Given the description of an element on the screen output the (x, y) to click on. 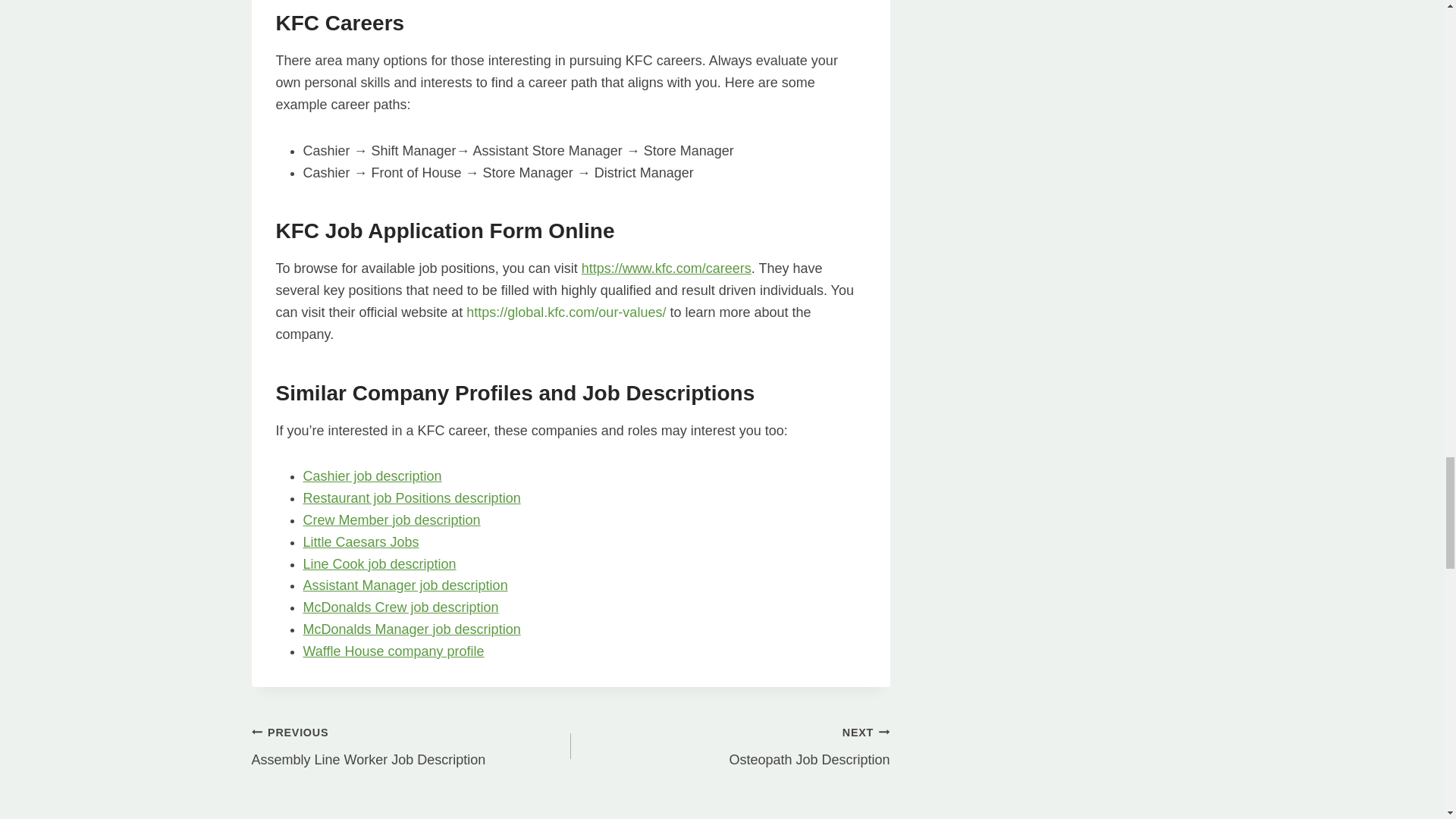
Waffle House company profile (393, 651)
McDonalds Manager job description (411, 629)
Little Caesars Jobs (360, 541)
Assistant Manager job description (405, 585)
Cashier job description (372, 476)
Line Cook job description (379, 563)
Crew Member job description (391, 519)
McDonalds Crew job description (400, 607)
Restaurant job Positions description (411, 498)
